Given the description of an element on the screen output the (x, y) to click on. 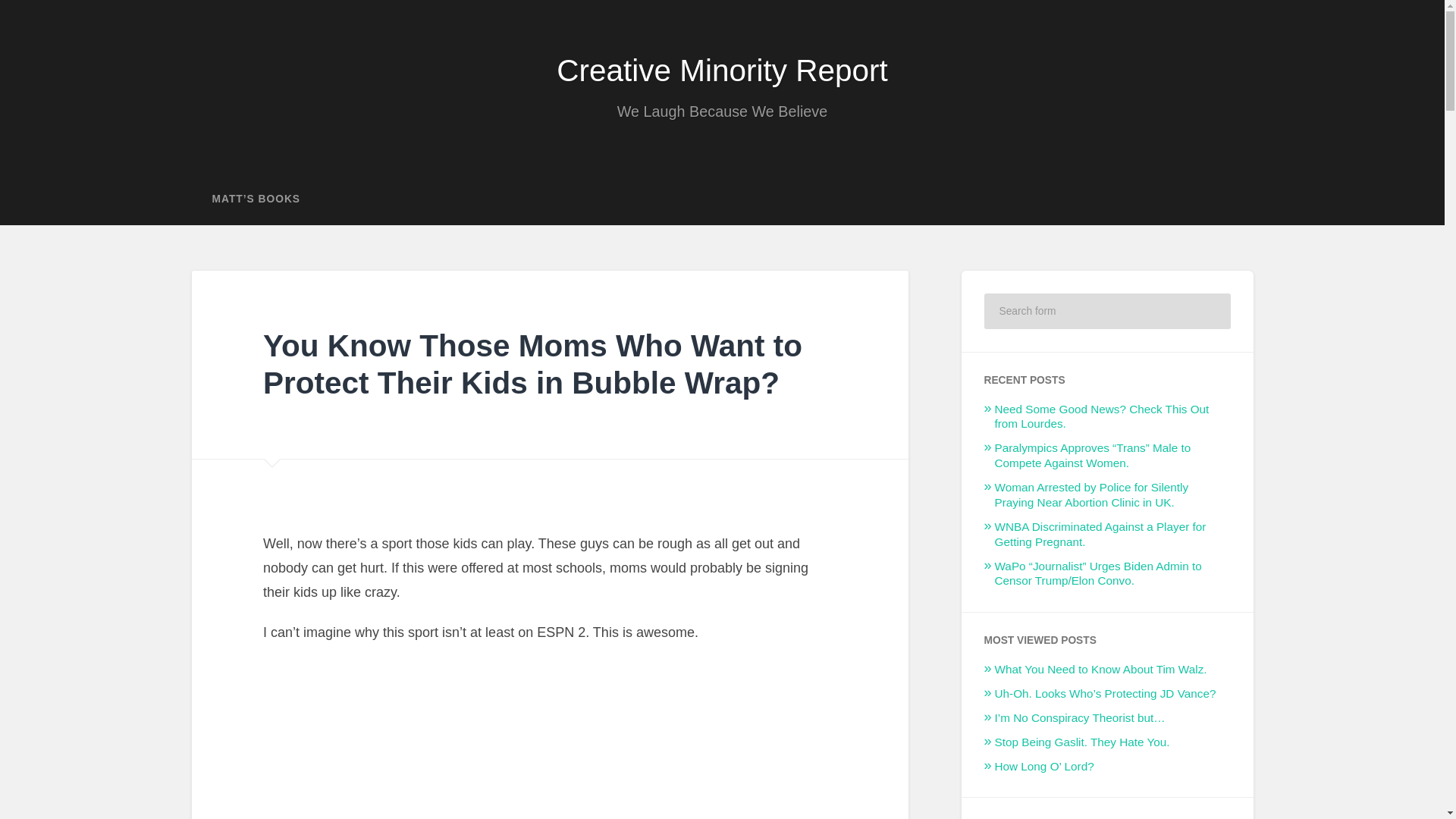
Search (1209, 310)
Search (1209, 310)
WNBA Discriminated Against a Player for Getting Pregnant. (1100, 533)
What You Need to Know About Tim Walz. (1100, 668)
Need Some Good News? Check This Out from Lourdes. (1101, 416)
Search (1209, 310)
Stop Being Gaslit. They Hate You. (1082, 741)
Creative Minority Report (722, 70)
